Given the description of an element on the screen output the (x, y) to click on. 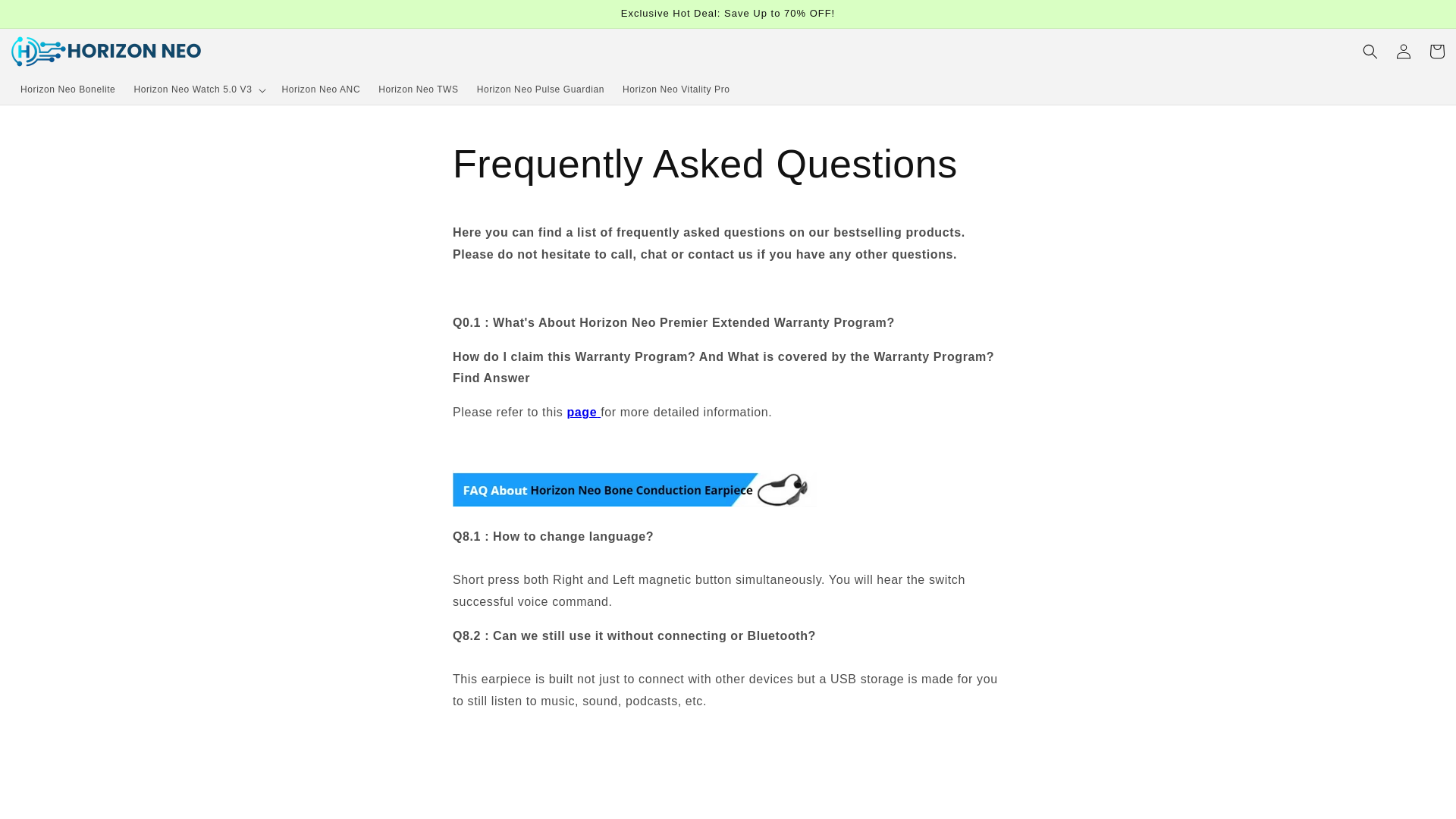
Skip to content (45, 17)
page (581, 411)
Horizon Neo ANC (320, 90)
Horizon Neo TWS (418, 90)
Cart (1437, 51)
Horizon Neo Extended Warranty Program (581, 411)
Horizon Neo Vitality Pro (675, 90)
Log in (1404, 51)
Horizon Neo Bonelite (67, 90)
Horizon Neo Pulse Guardian (539, 90)
